Given the description of an element on the screen output the (x, y) to click on. 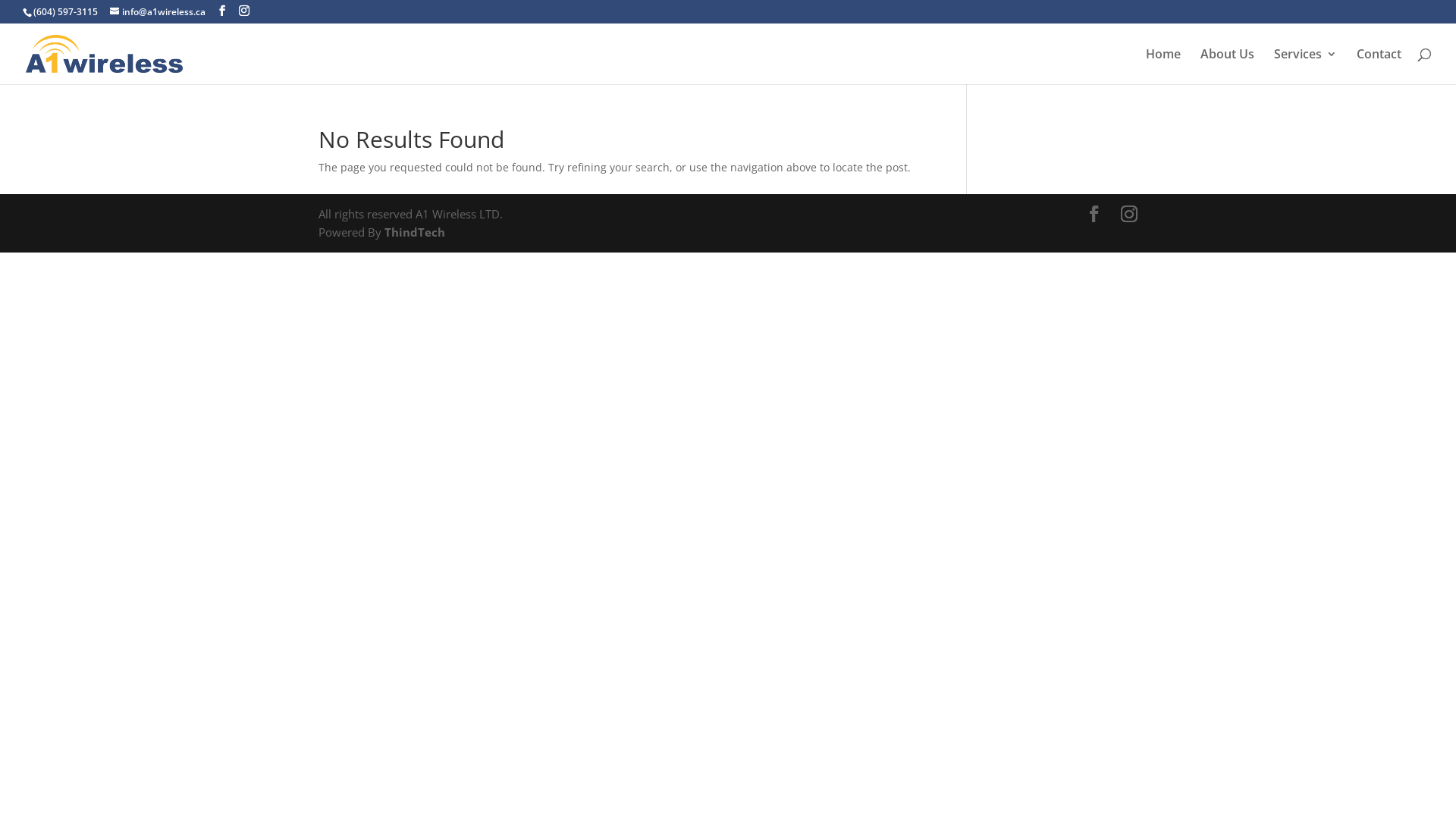
Contact Element type: text (1378, 66)
ThindTech Element type: text (413, 231)
Home Element type: text (1162, 66)
info@a1wireless.ca Element type: text (157, 11)
Services Element type: text (1305, 66)
About Us Element type: text (1227, 66)
